Given the description of an element on the screen output the (x, y) to click on. 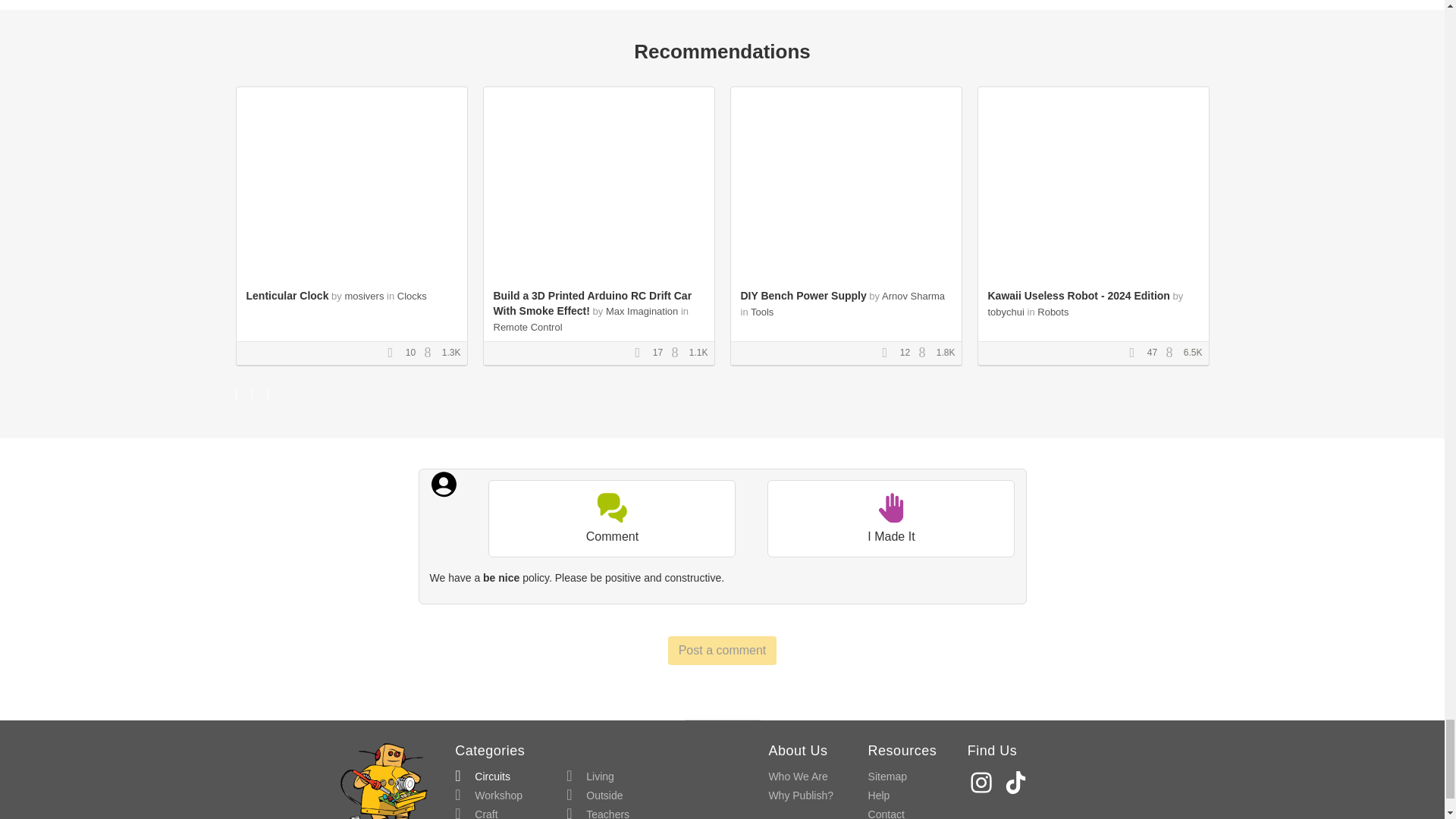
I Made It (890, 518)
tobychui (1005, 311)
Favorites Count (1136, 353)
Lenticular Clock (287, 295)
Robots (1052, 311)
Remote Control (527, 326)
Instagram (983, 782)
Views Count (925, 353)
Views Count (678, 353)
Clocks (411, 296)
Tools (762, 311)
Views Count (431, 353)
Favorites Count (889, 353)
Kawaii Useless Robot - 2024 Edition (1078, 295)
Arnov Sharma (913, 296)
